Given the description of an element on the screen output the (x, y) to click on. 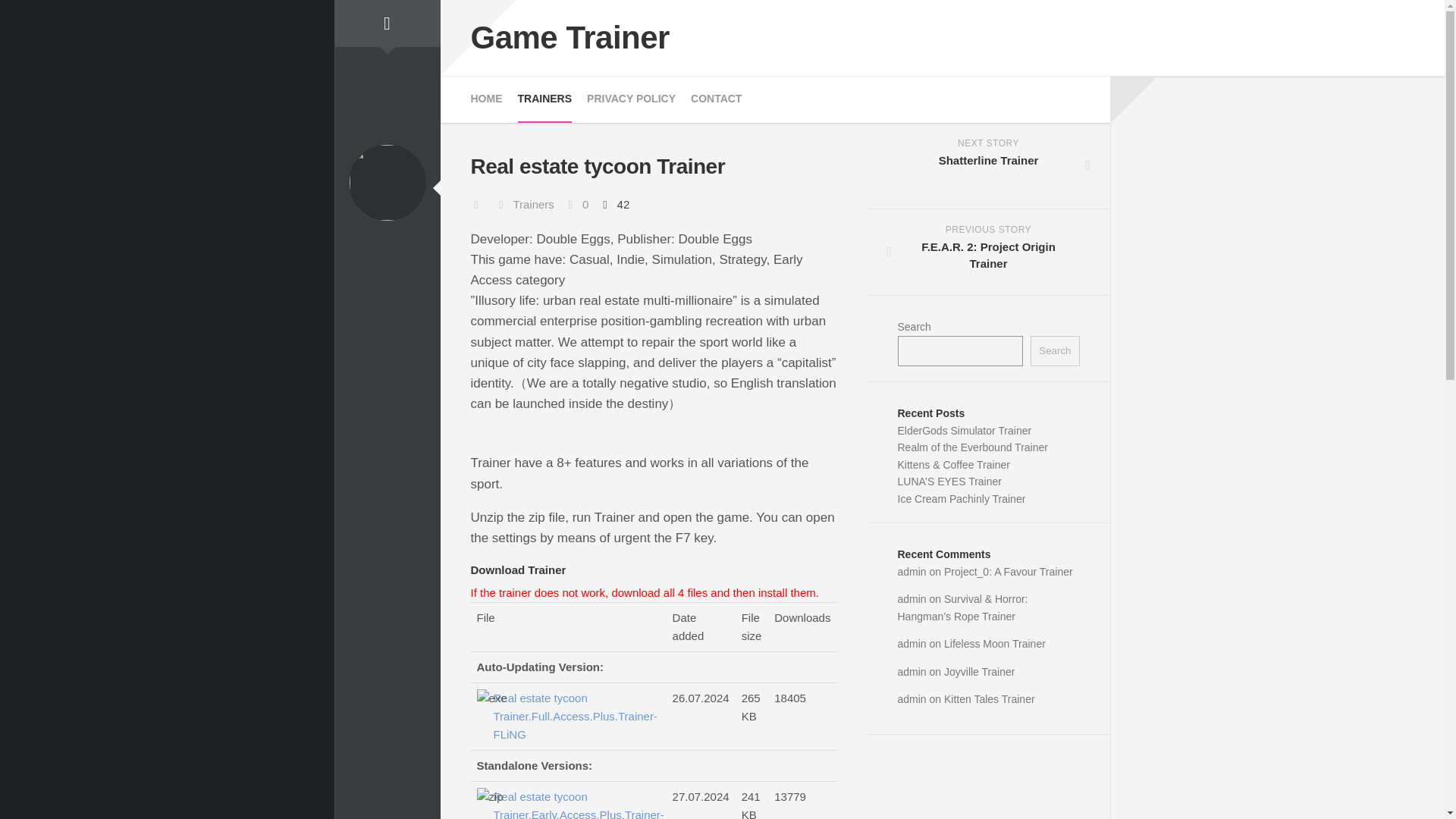
Trainers (532, 204)
Real estate tycoon Trainer.Early.Access.Plus.Trainer-FLiNG (575, 803)
admin (912, 571)
HOME (486, 98)
Search (1054, 350)
CONTACT (715, 98)
Ice Cream Pachinly Trainer (962, 499)
TRAINERS (988, 165)
ElderGods Simulator Trainer (544, 98)
admin (965, 430)
Game Trainer (912, 598)
Real estate tycoon Trainer.Full.Access.Plus.Trainer-FLiNG (569, 37)
PRIVACY POLICY (575, 716)
Realm of the Everbound Trainer (630, 98)
